Given the description of an element on the screen output the (x, y) to click on. 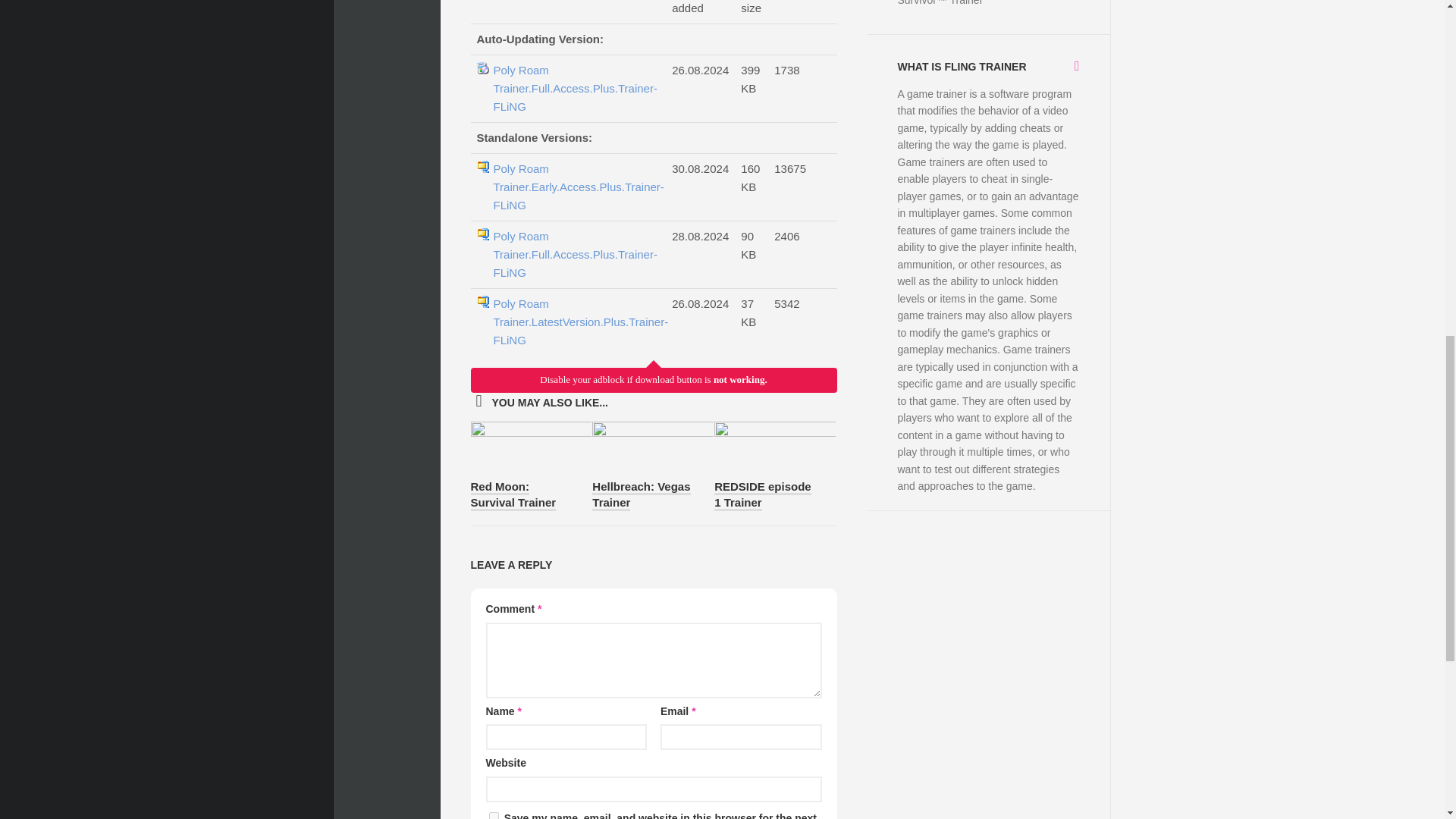
Poly Roam Trainer.Early.Access.Plus.12.Trainer-FLiNG (575, 88)
Red Moon: Survival Trainer (513, 495)
Poly Roam Trainer.Early.Access.Plus.Trainer-FLiNG (575, 186)
Poly Roam Trainer.Full.Access.Plus.12.Trainer-FLiNG (575, 321)
Poly Roam Trainer.Full.Access.Plus.Trainer-FLiNG (575, 88)
Poly Roam Trainer.LatestVersion.Plus.Trainer-FLiNG (575, 321)
Poly Roam Trainer.Full.Access.Plus.Trainer-FLiNG (575, 254)
Poly Roam Trainer.Early.Access.Plus.12.Trainer-FLiNG (575, 186)
REDSIDE episode 1 Trainer (762, 495)
Hellbreach: Vegas Trainer (641, 495)
